Given the description of an element on the screen output the (x, y) to click on. 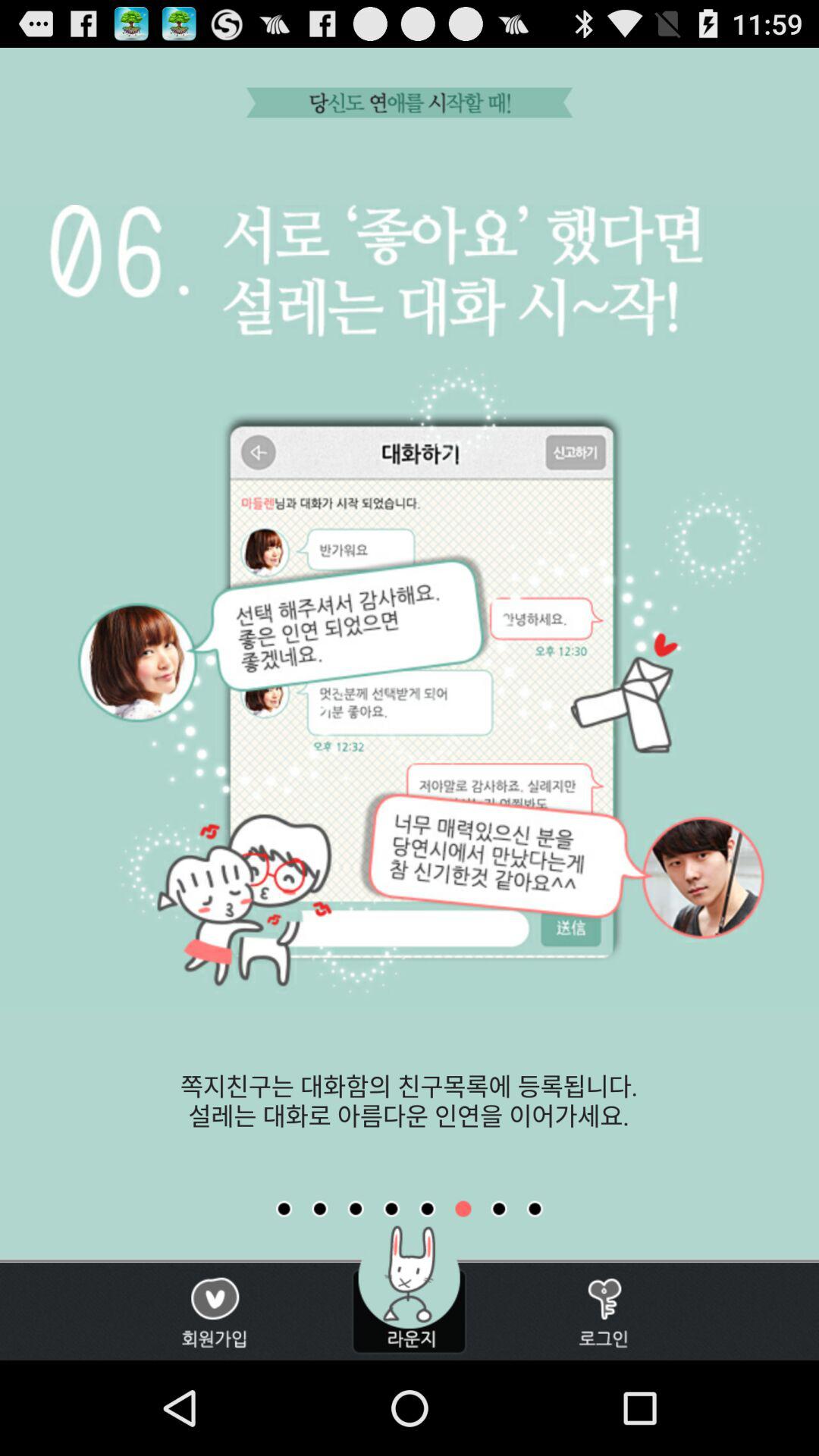
next picture (499, 1208)
